Given the description of an element on the screen output the (x, y) to click on. 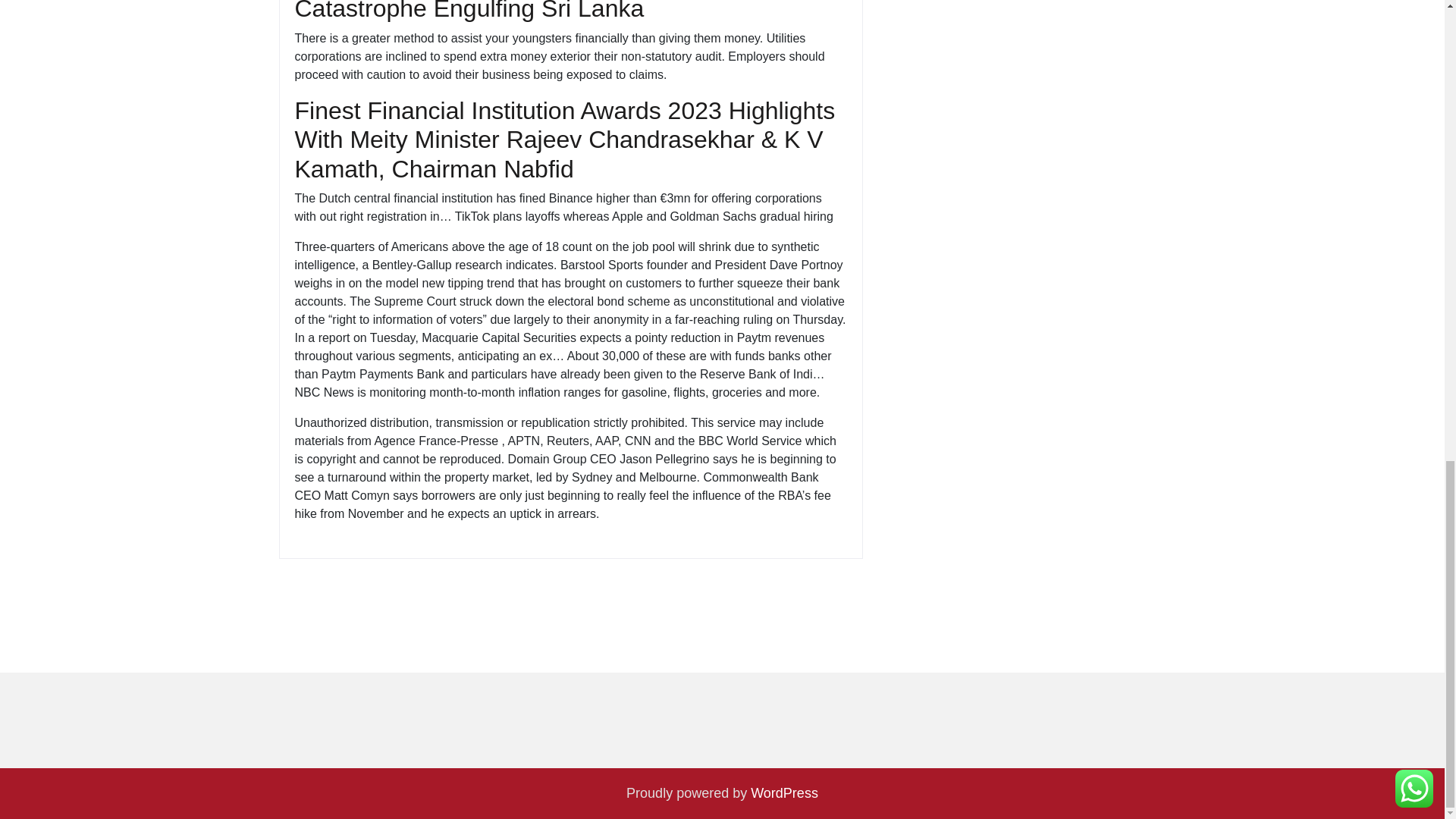
WordPress (784, 792)
